Given the description of an element on the screen output the (x, y) to click on. 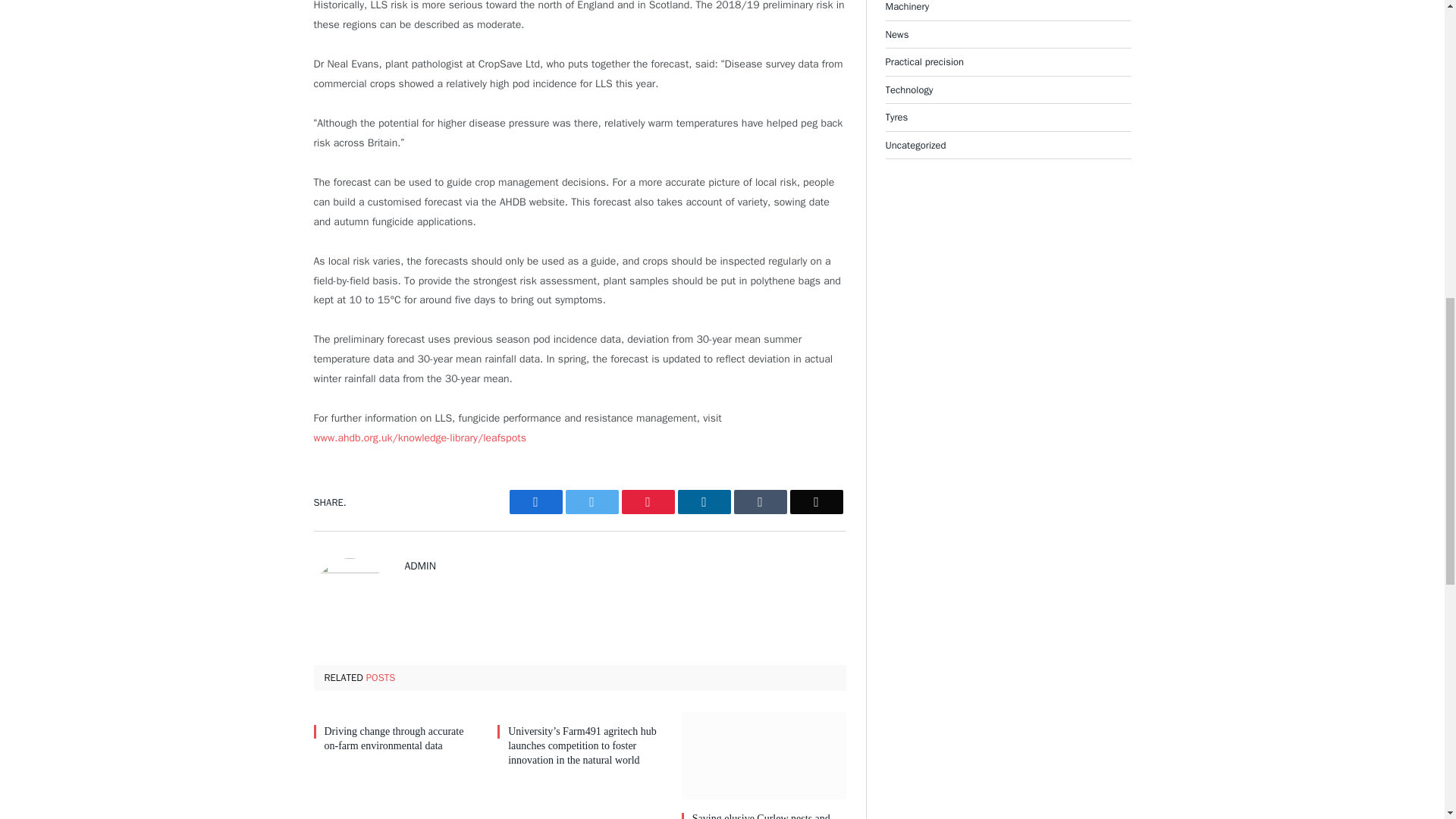
Share on Pinterest (648, 501)
Share on LinkedIn (704, 501)
Share via Email (816, 501)
Share on Twitter (592, 501)
Share on Tumblr (760, 501)
Share on Twitter (535, 501)
